Given the description of an element on the screen output the (x, y) to click on. 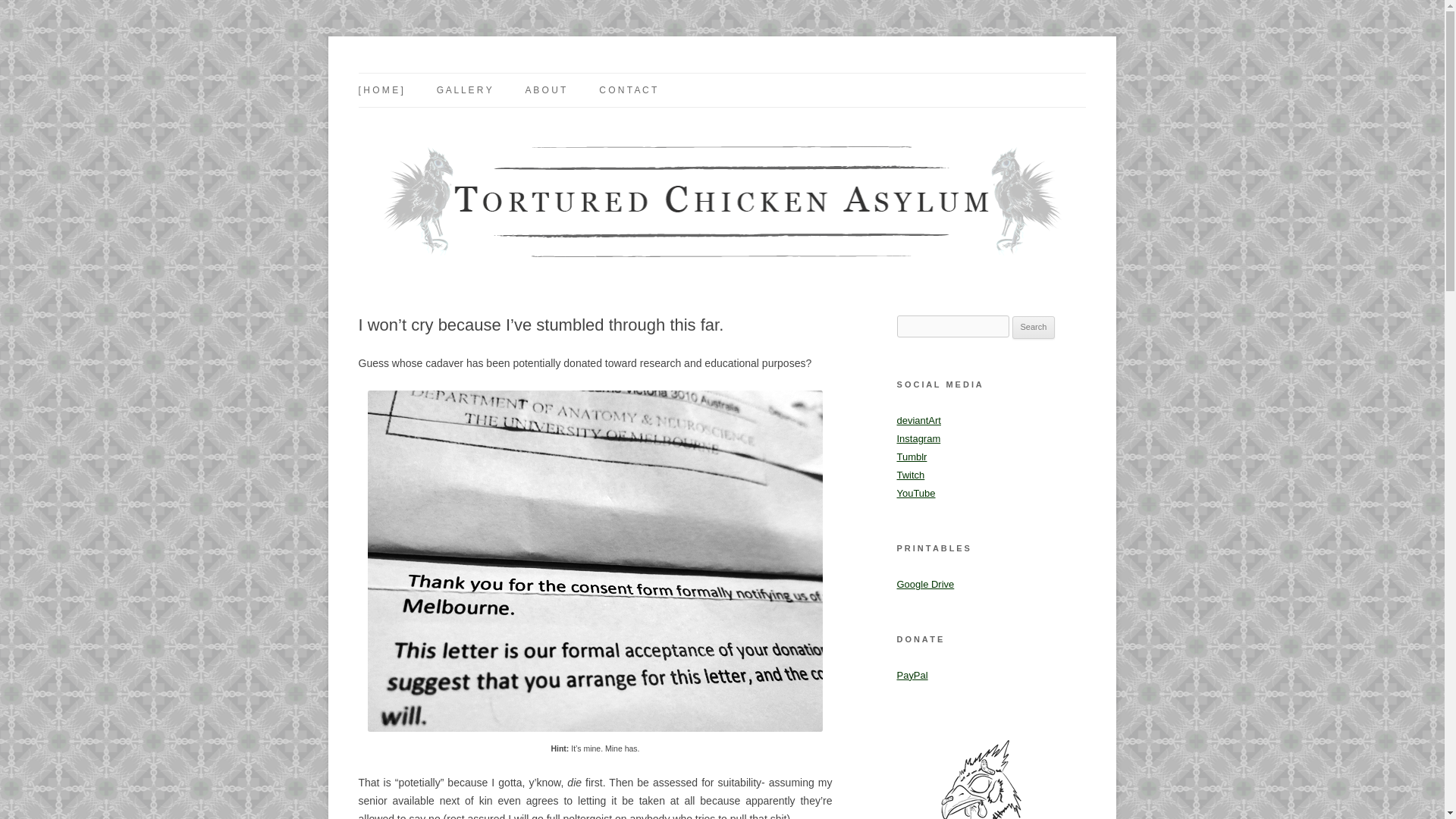
PayPal (911, 674)
Twitch (910, 474)
Tumblr (911, 456)
Google Drive (924, 583)
Tortured Chicken (438, 72)
Search (1033, 327)
Instagram (918, 438)
C O N T A C T (627, 90)
YouTube (915, 492)
G A L L E R Y (464, 90)
A B O U T (545, 90)
